Given the description of an element on the screen output the (x, y) to click on. 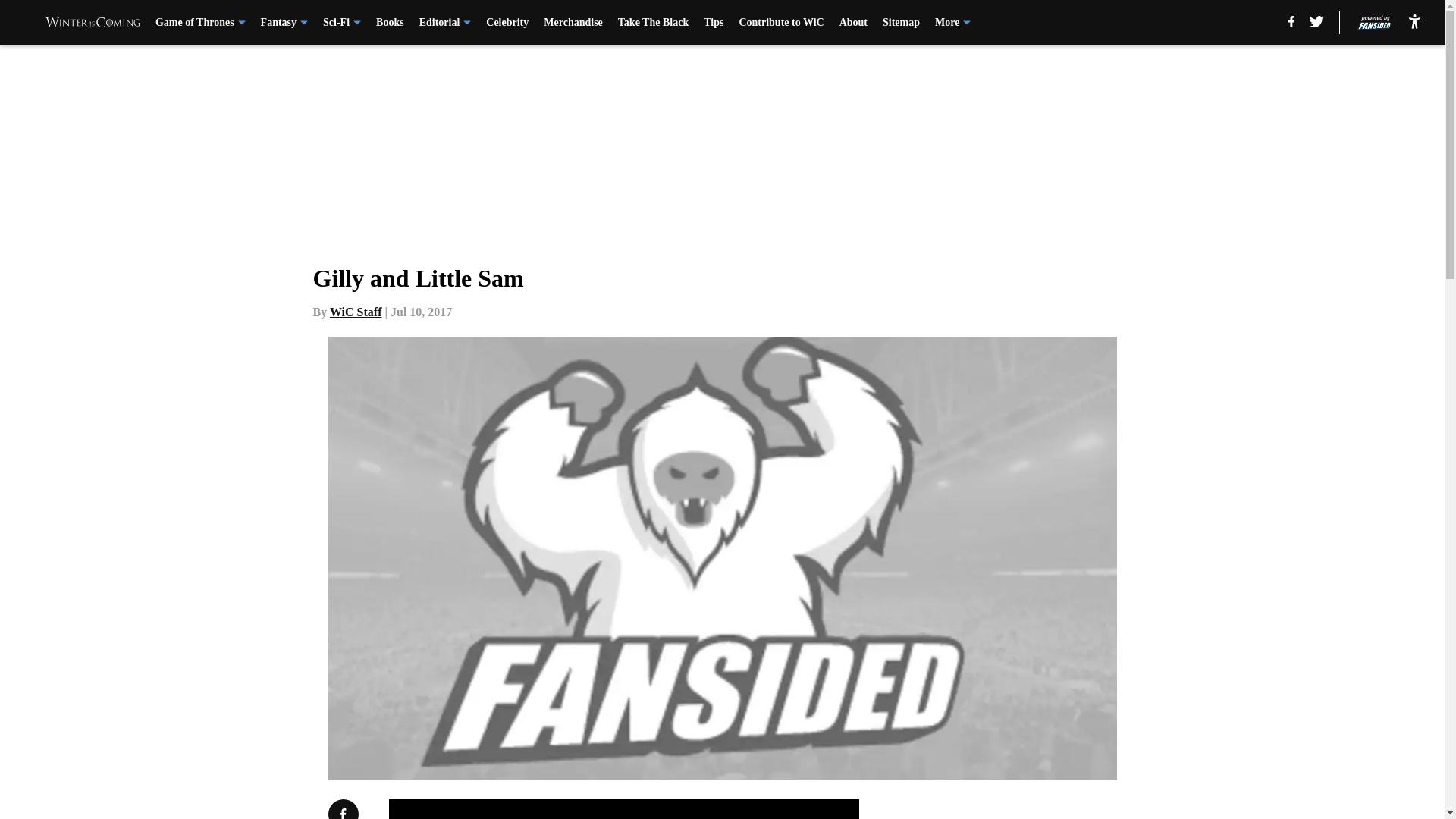
Books (389, 22)
Fantasy (283, 22)
Sci-Fi (342, 22)
Game of Thrones (200, 22)
Editorial (445, 22)
